Given the description of an element on the screen output the (x, y) to click on. 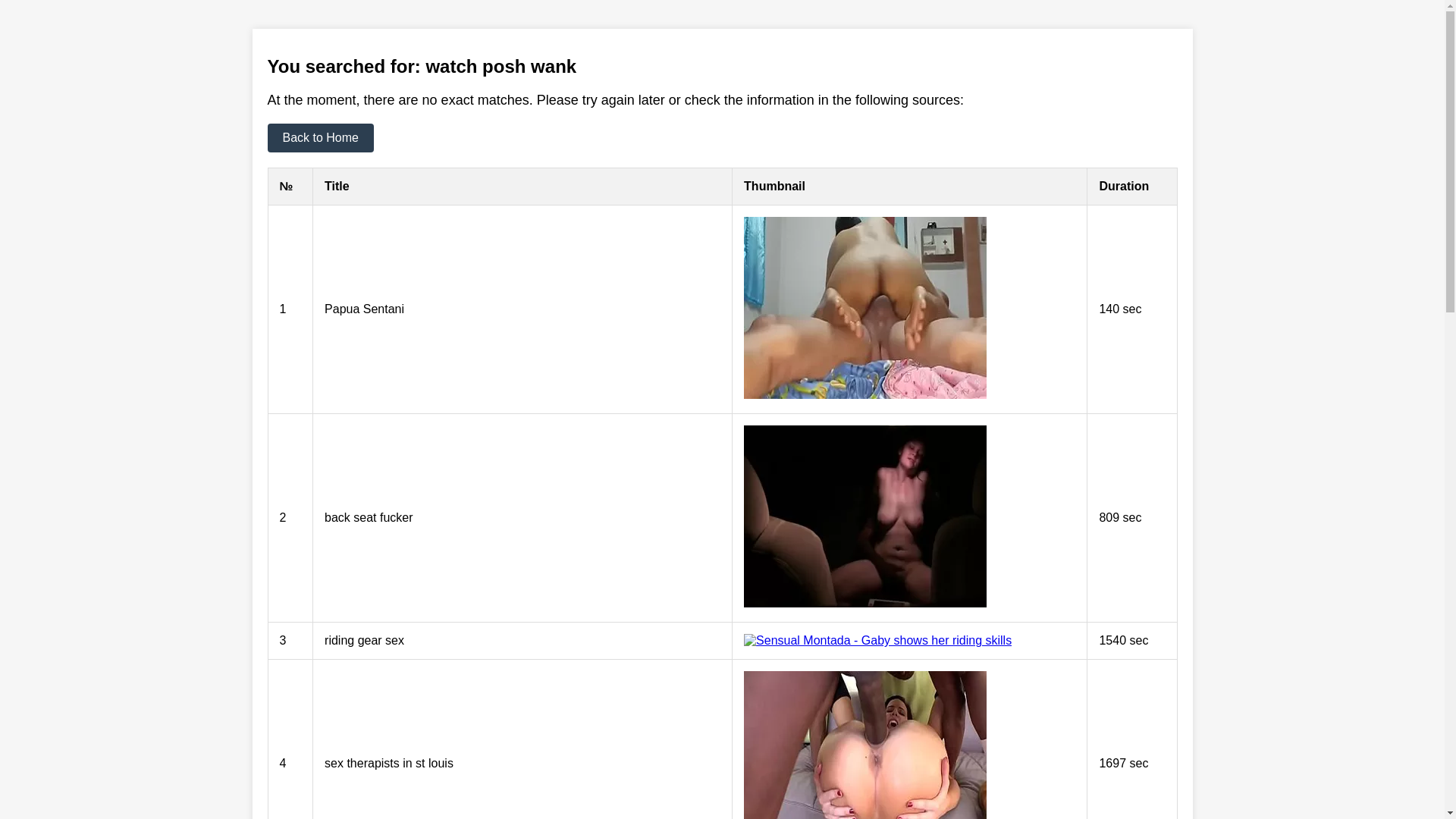
Back to Home Element type: text (319, 137)
Back to Home Element type: text (319, 137)
